Given the description of an element on the screen output the (x, y) to click on. 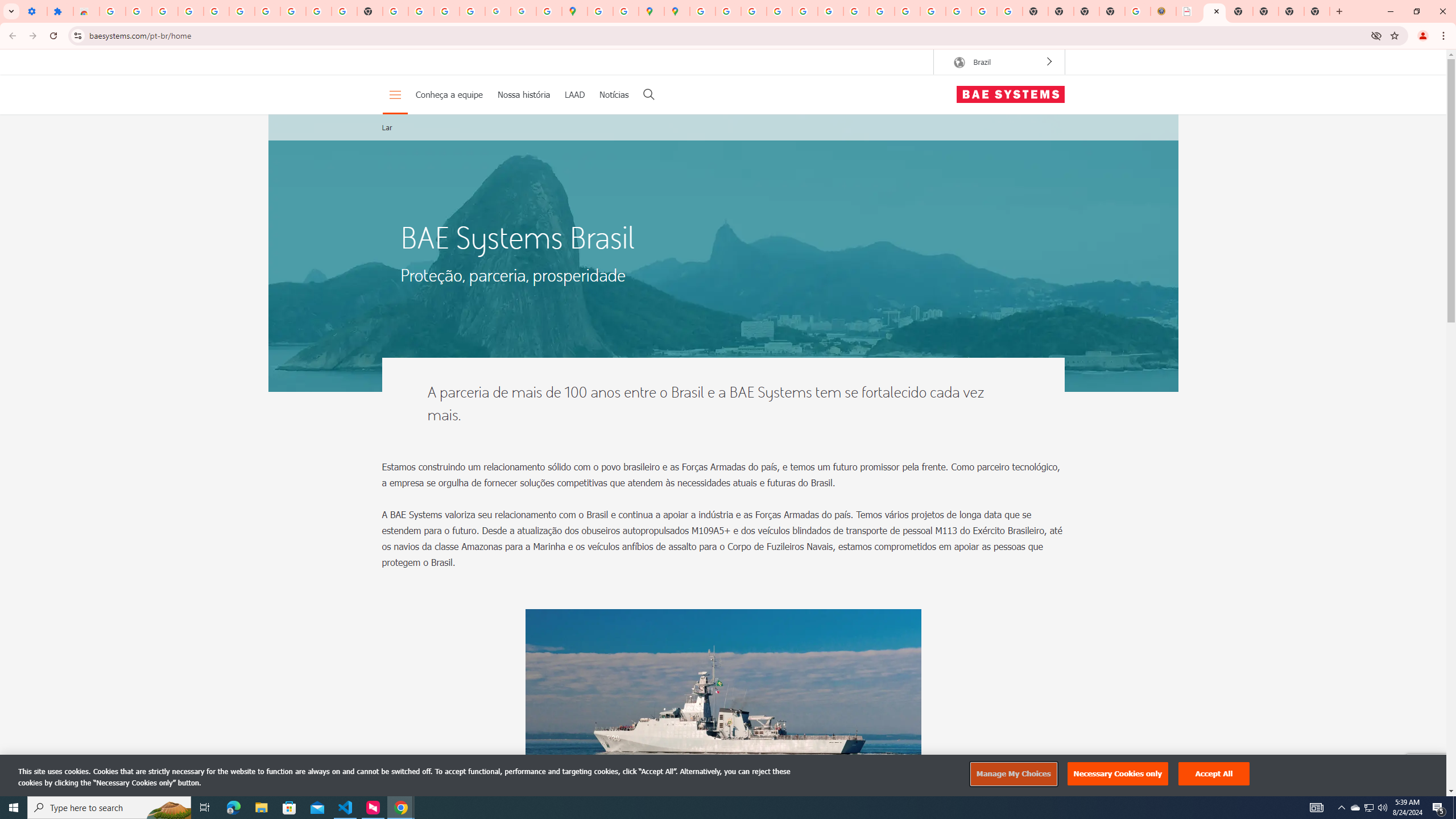
LAAD (574, 94)
AutomationID: region-selector-top (999, 61)
